Given the description of an element on the screen output the (x, y) to click on. 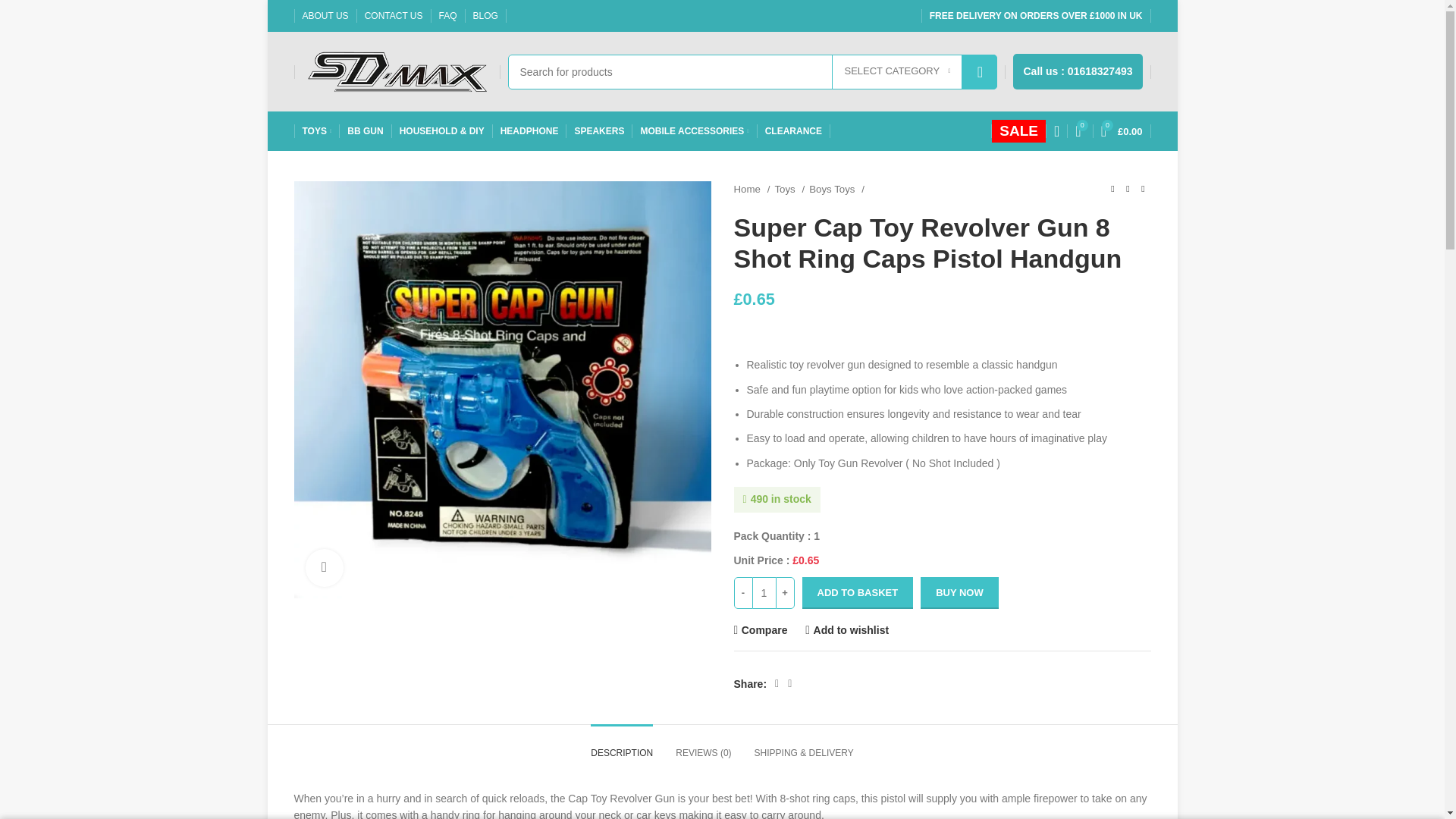
Search for products (752, 71)
SEARCH (979, 71)
SELECT CATEGORY (896, 70)
Shopping cart (1121, 131)
CONTACT US (394, 15)
ABOUT US (324, 15)
SELECT CATEGORY (896, 70)
